Given the description of an element on the screen output the (x, y) to click on. 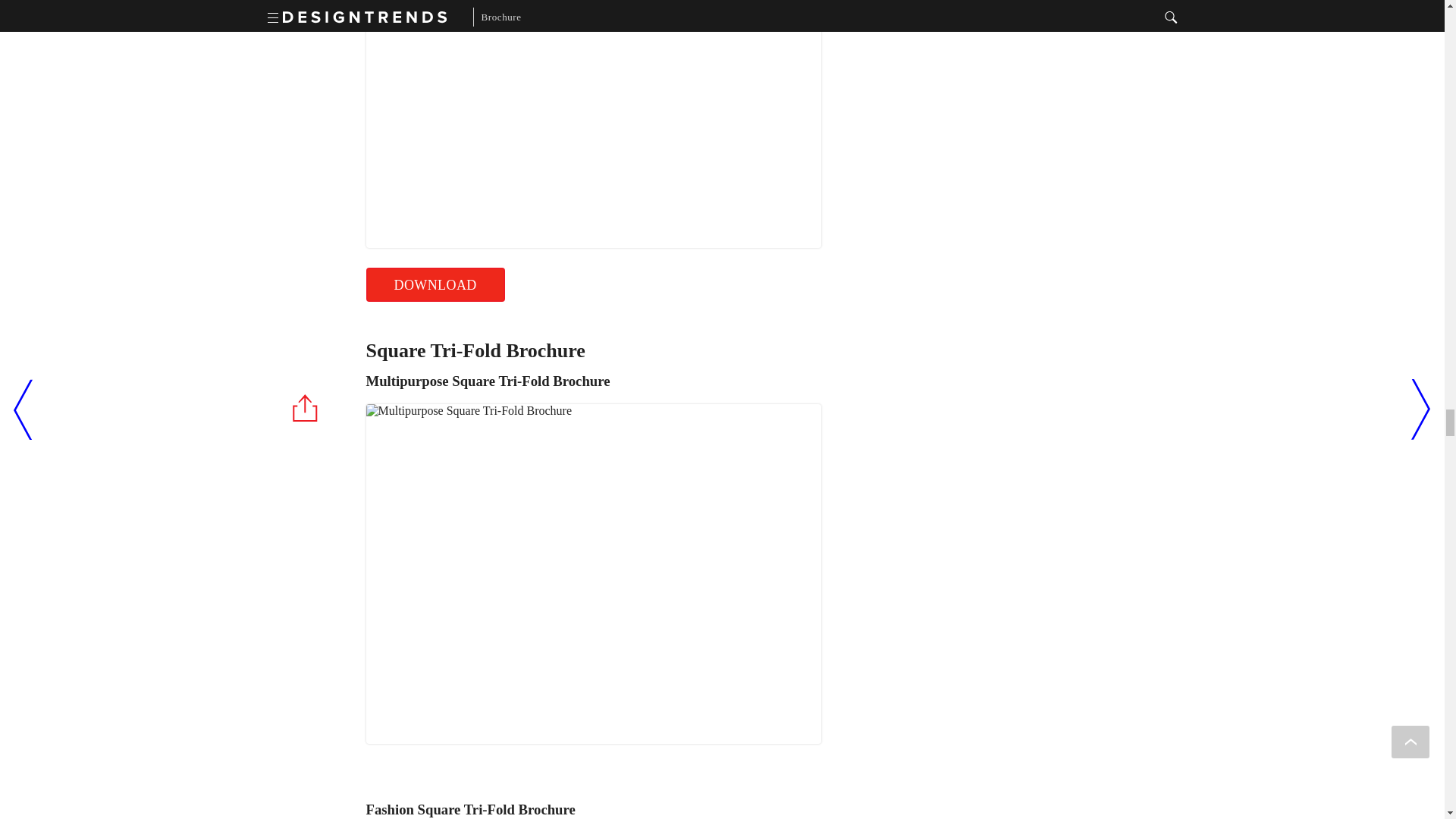
DOWNLOAD (434, 284)
